Given the description of an element on the screen output the (x, y) to click on. 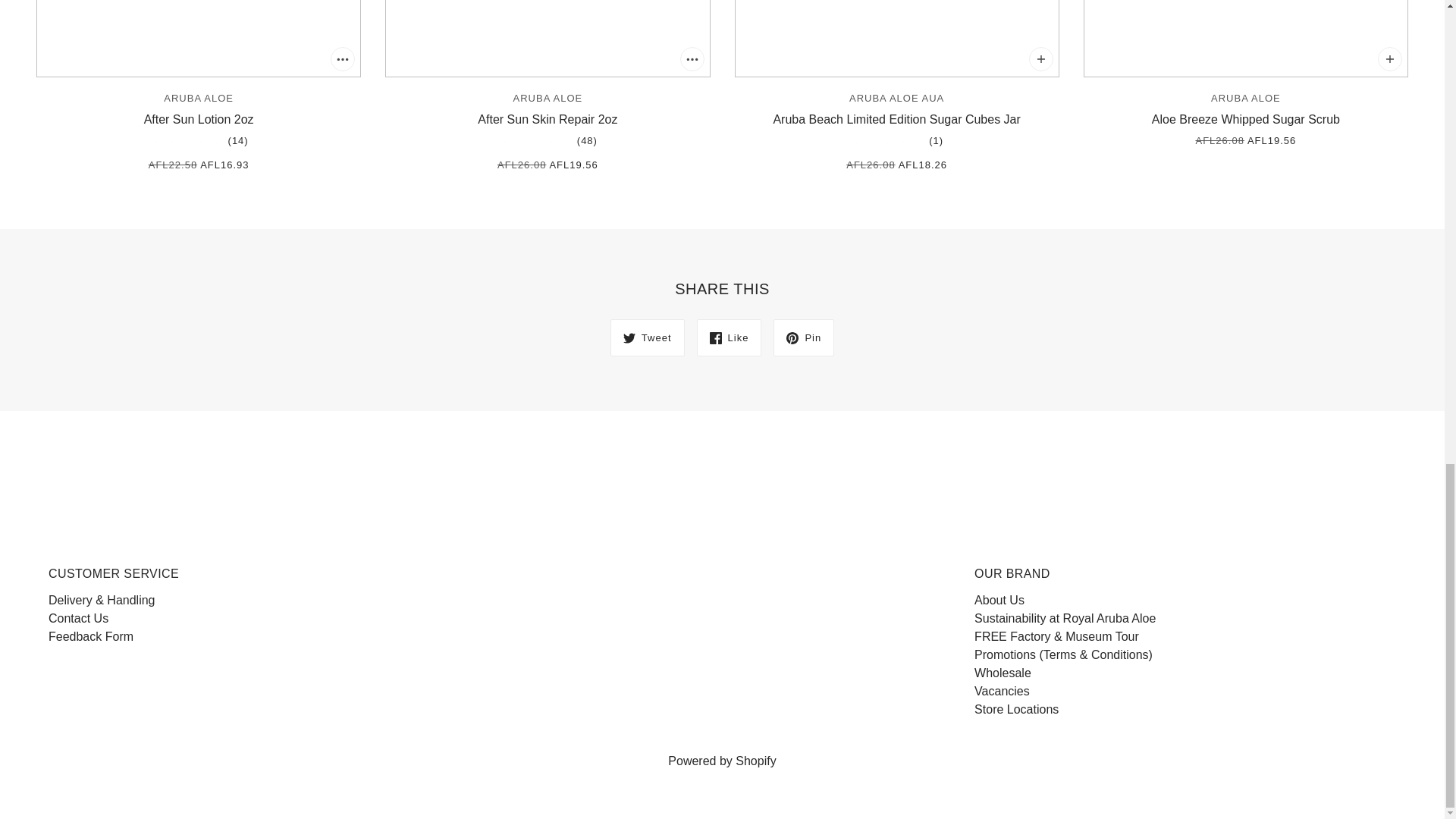
Feedback Form (90, 635)
About Us (999, 599)
Wholesale (1002, 672)
Contact Us (77, 617)
Vacancies (1001, 690)
Sustainability at Royal Aruba Aloe (198, 87)
Store Locations (1065, 617)
